Given the description of an element on the screen output the (x, y) to click on. 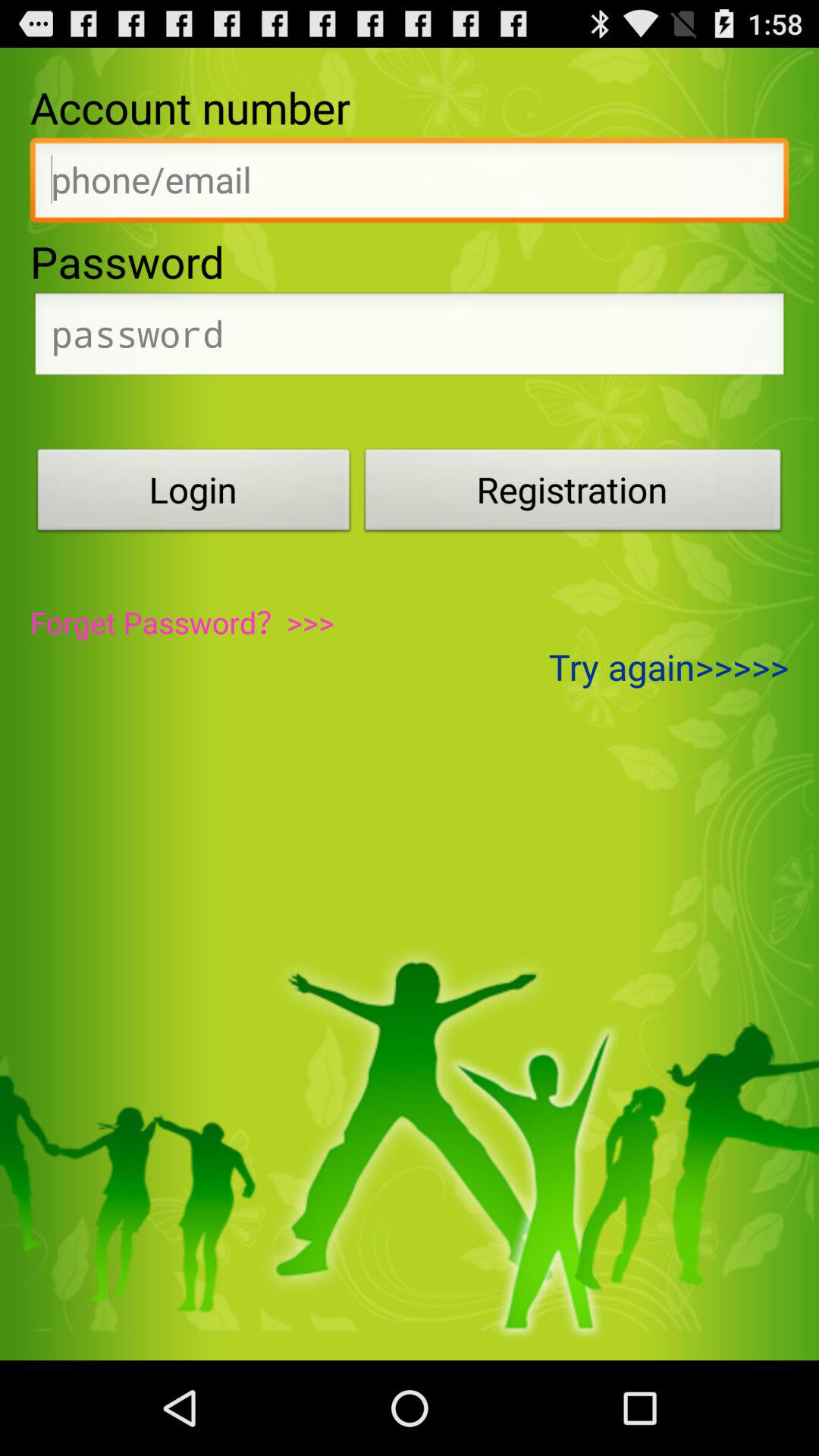
launch item to the left of try again>>>>> app (182, 622)
